Given the description of an element on the screen output the (x, y) to click on. 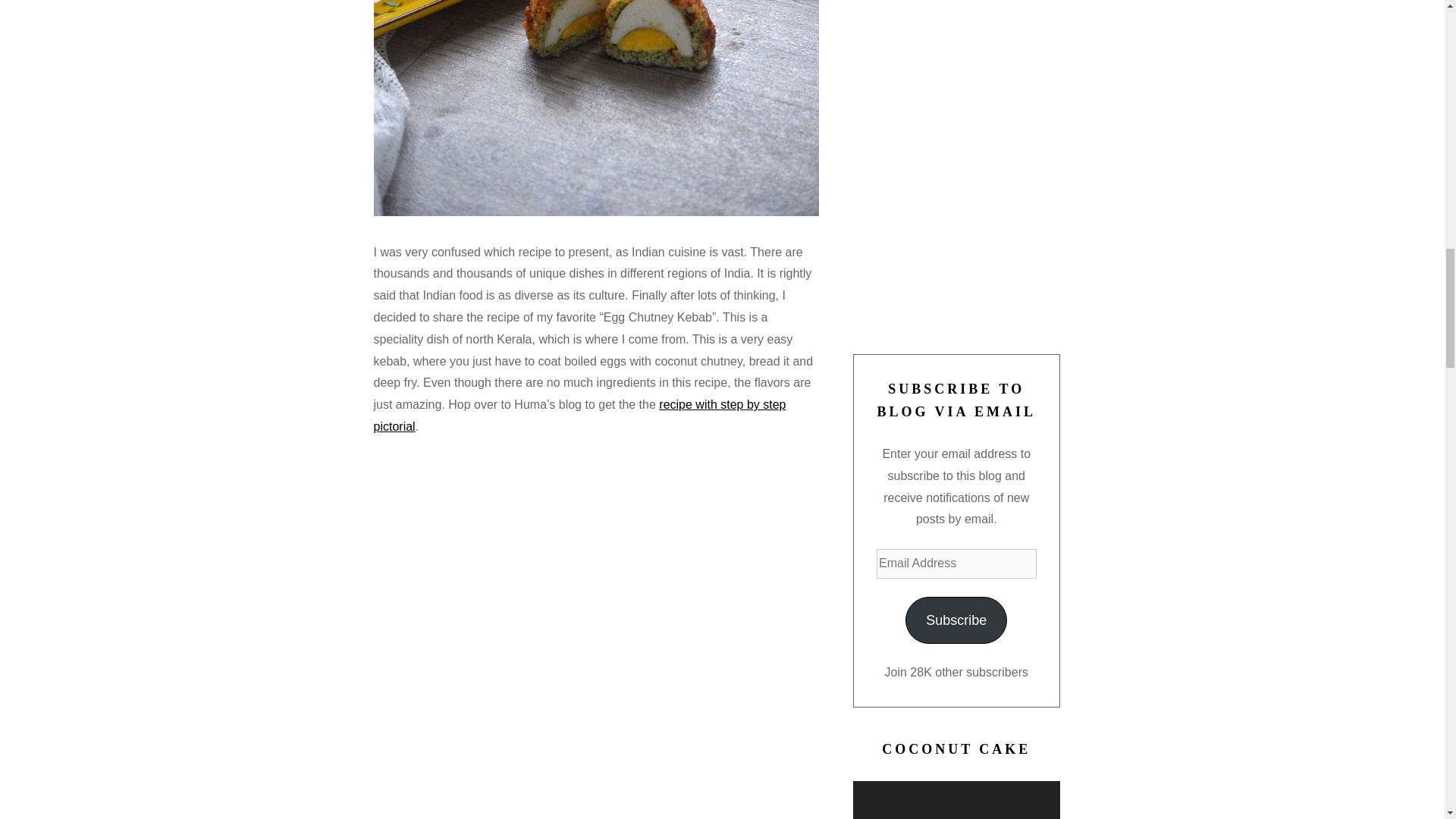
recipe with step by step pictorial (579, 415)
